Given the description of an element on the screen output the (x, y) to click on. 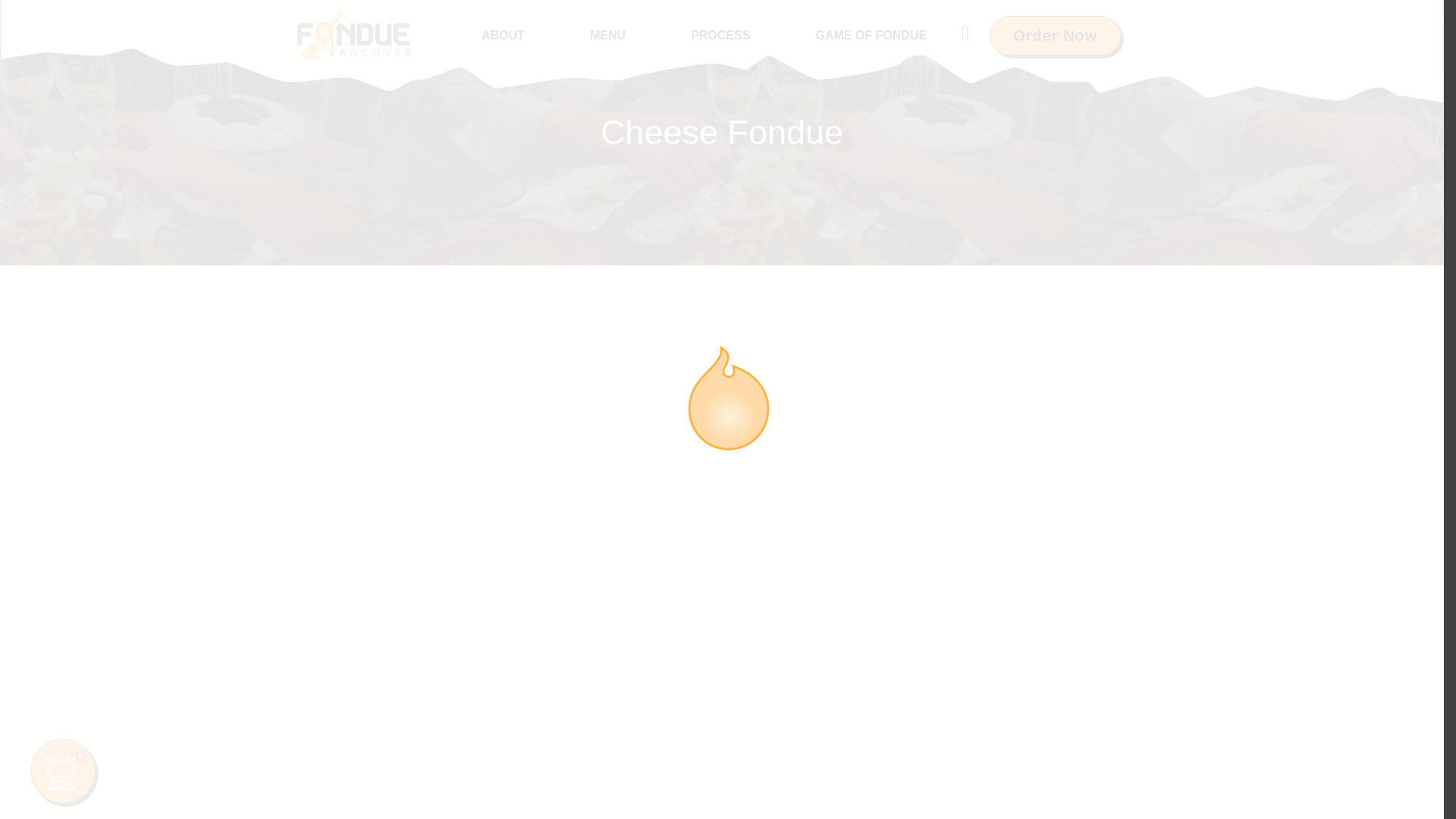
ABOUT (502, 35)
GAME OF FONDUE (871, 35)
PROCESS (719, 35)
0 (63, 770)
Order Now (1055, 35)
MENU (607, 35)
